Given the description of an element on the screen output the (x, y) to click on. 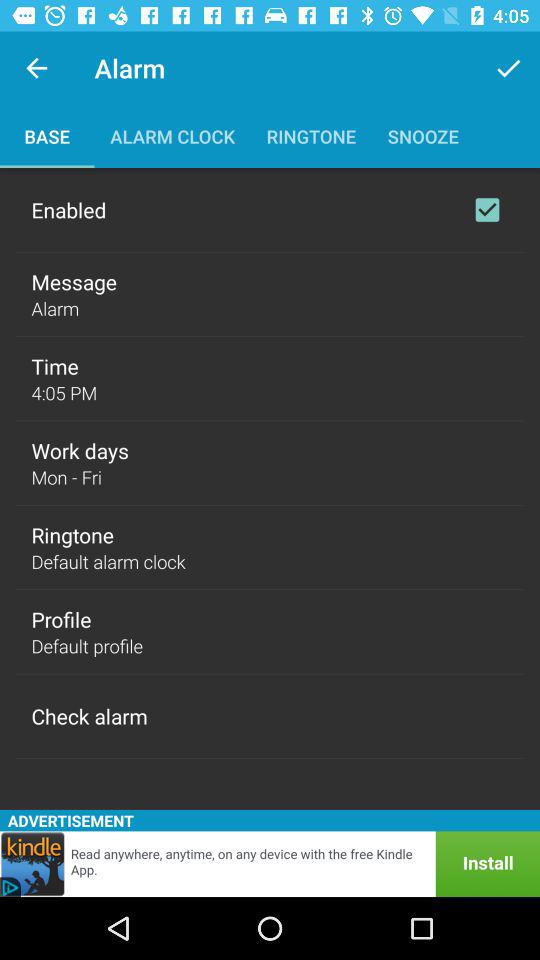
launch the item to the right of enabled (487, 209)
